Given the description of an element on the screen output the (x, y) to click on. 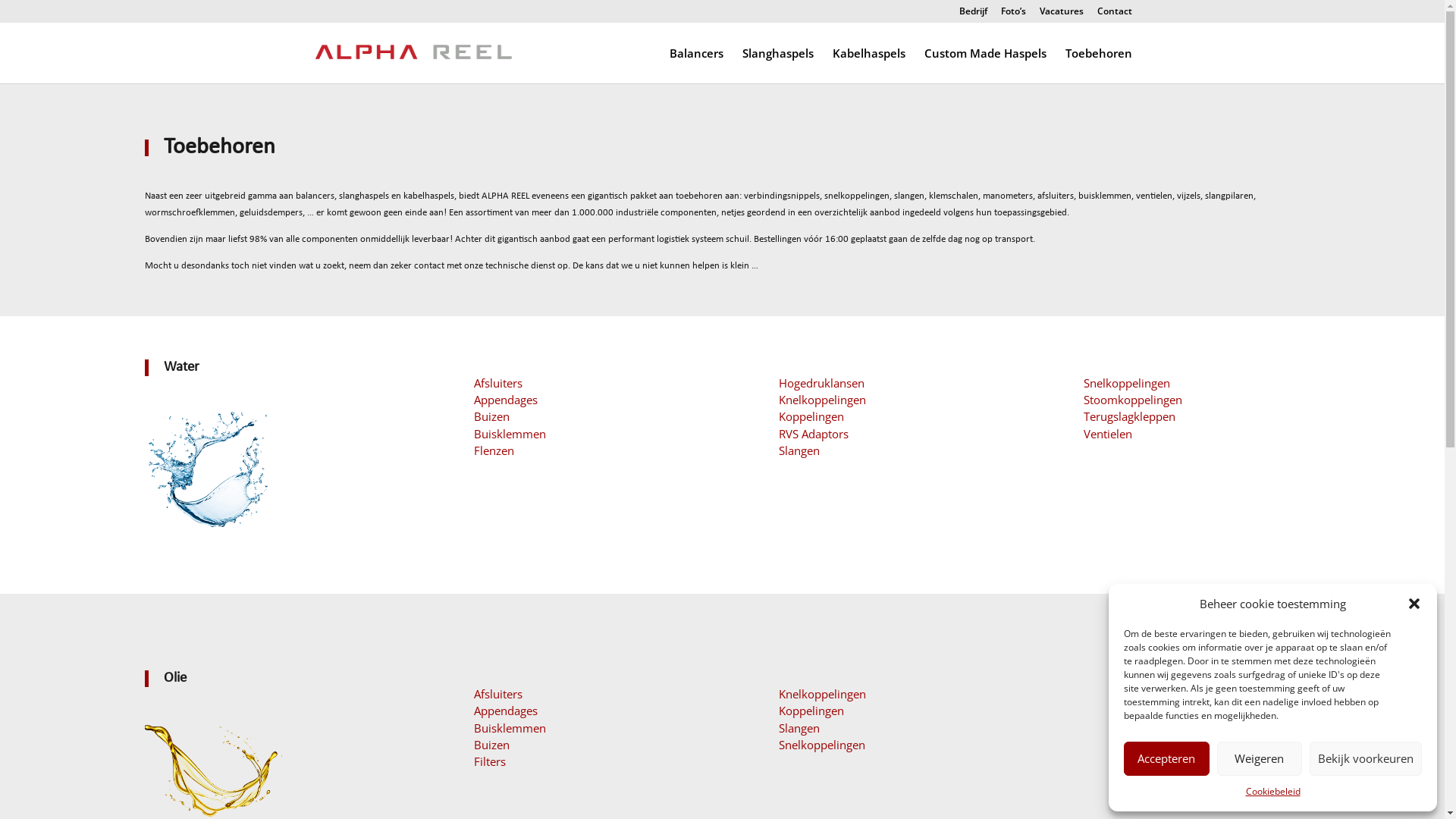
Afsluiters Element type: text (497, 693)
Buizen Element type: text (491, 415)
Filters Element type: text (489, 760)
Balancers Element type: text (695, 65)
RVS Adaptors Element type: text (813, 433)
Vacatures Element type: text (1060, 14)
Koppelingen Element type: text (811, 415)
Accepteren Element type: text (1166, 758)
Flenzen Element type: text (493, 450)
Koppelingen Element type: text (811, 710)
  Afsluiters Element type: text (494, 382)
Buisklemmen Element type: text (509, 727)
Knelkoppelingen Element type: text (822, 399)
Slanghaspels Element type: text (776, 65)
Bekijk voorkeuren Element type: text (1365, 758)
Weigeren Element type: text (1259, 758)
Snelkoppelingen Element type: text (1126, 382)
Appendages Element type: text (505, 710)
Contact Element type: text (1113, 14)
Toebehoren Element type: text (1097, 65)
Custom Made Haspels Element type: text (984, 65)
Stoomkoppelingen Element type: text (1132, 399)
Appendages Element type: text (505, 399)
Cookiebeleid Element type: text (1272, 791)
Terugslagkleppen Element type: text (1129, 415)
Snelkoppelingen Element type: text (821, 744)
Knelkoppelingen Element type: text (822, 693)
Bedrijf Element type: text (972, 14)
Slangen Element type: text (798, 450)
Buisklemmen Element type: text (509, 433)
Buizen Element type: text (491, 744)
Hogedruklansen Element type: text (821, 382)
Ventielen Element type: text (1107, 433)
Kabelhaspels Element type: text (868, 65)
Slangen Element type: text (798, 727)
